Given the description of an element on the screen output the (x, y) to click on. 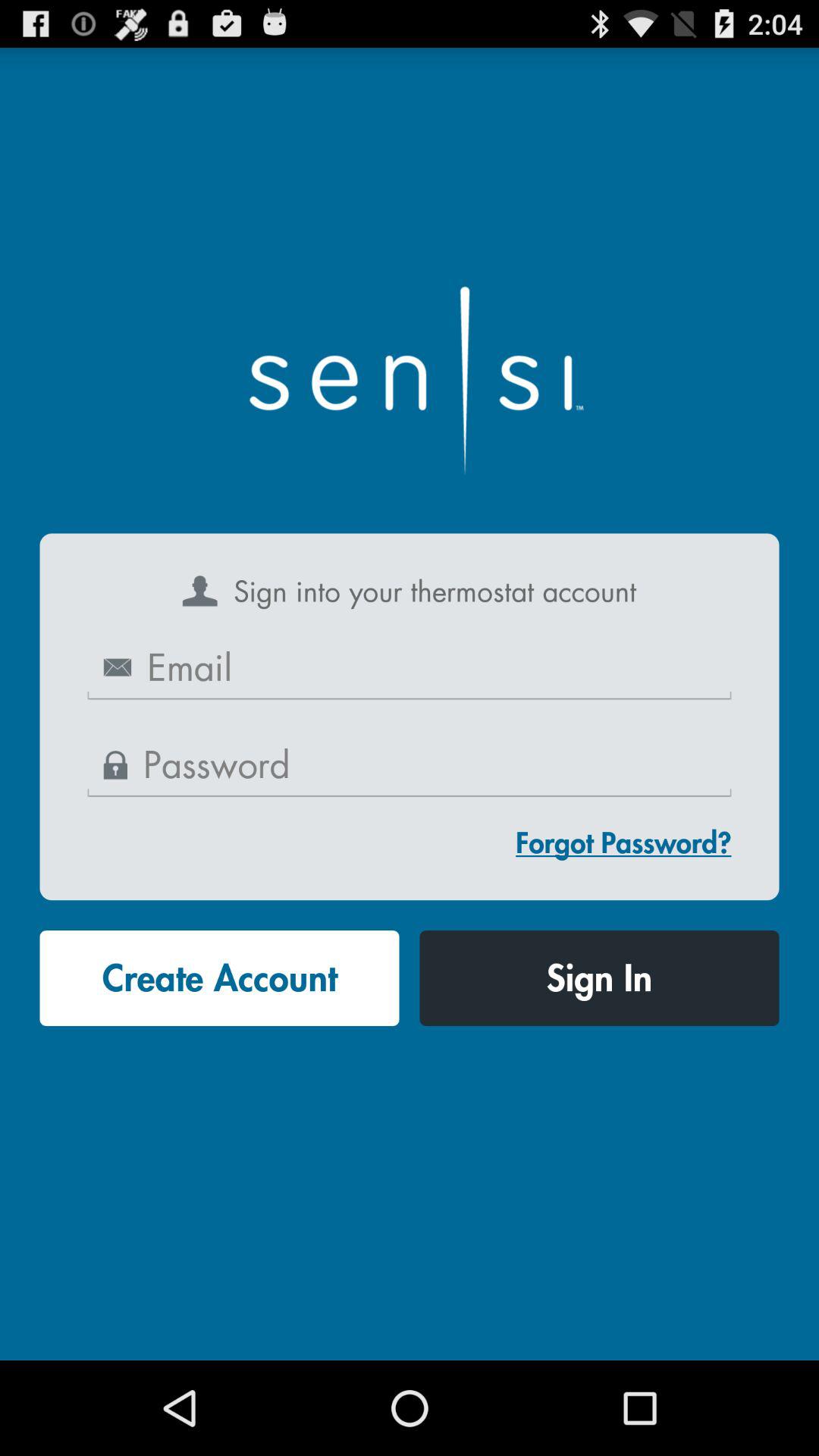
click icon below  forgot password?  icon (599, 978)
